Given the description of an element on the screen output the (x, y) to click on. 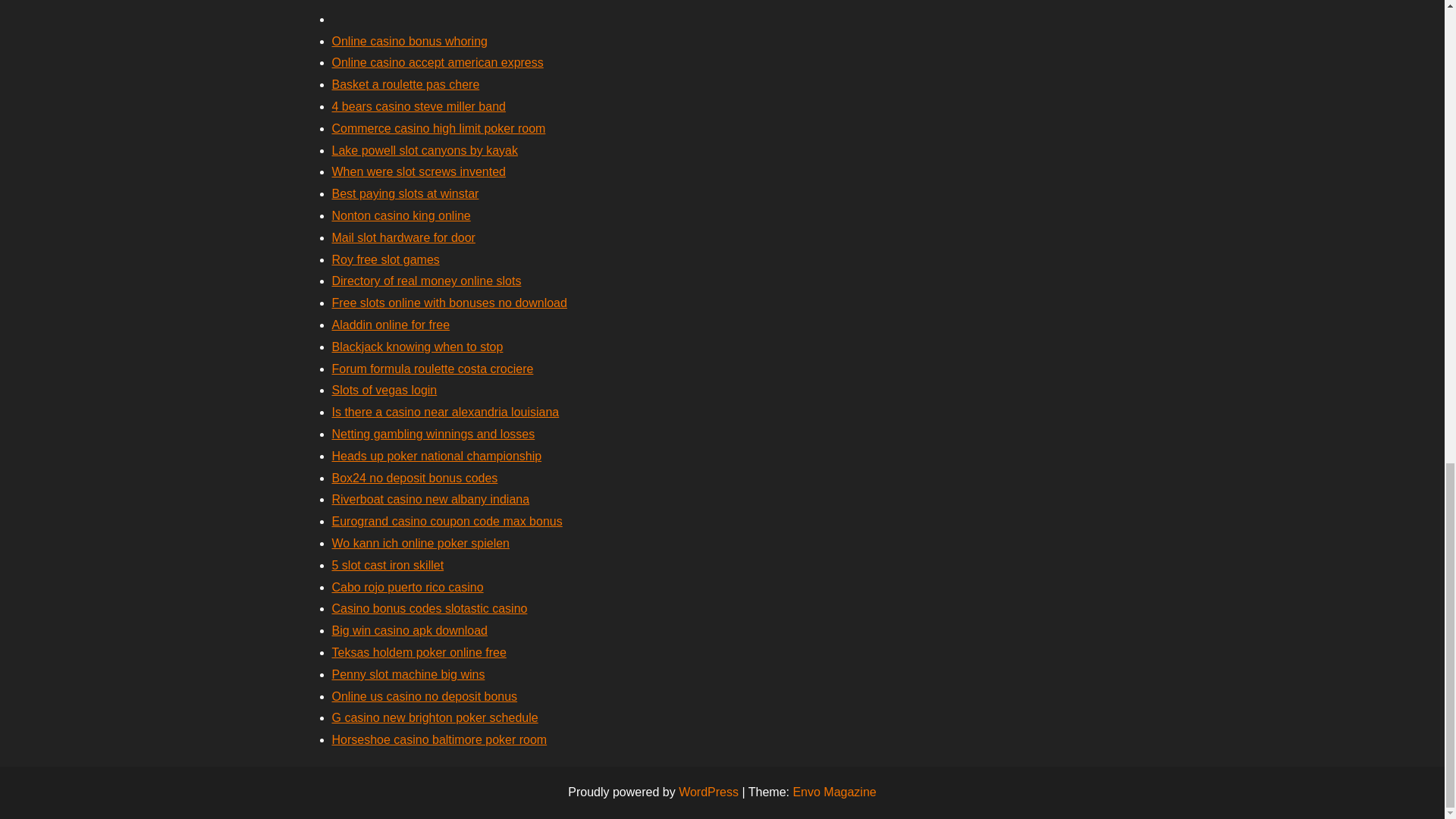
4 bears casino steve miller band (418, 106)
Heads up poker national championship (436, 455)
Free slots online with bonuses no download (449, 302)
Netting gambling winnings and losses (433, 433)
Eurogrand casino coupon code max bonus (446, 521)
Forum formula roulette costa crociere (432, 368)
Online casino bonus whoring (409, 41)
Nonton casino king online (400, 215)
Blackjack knowing when to stop (417, 346)
Mail slot hardware for door (403, 237)
